Given the description of an element on the screen output the (x, y) to click on. 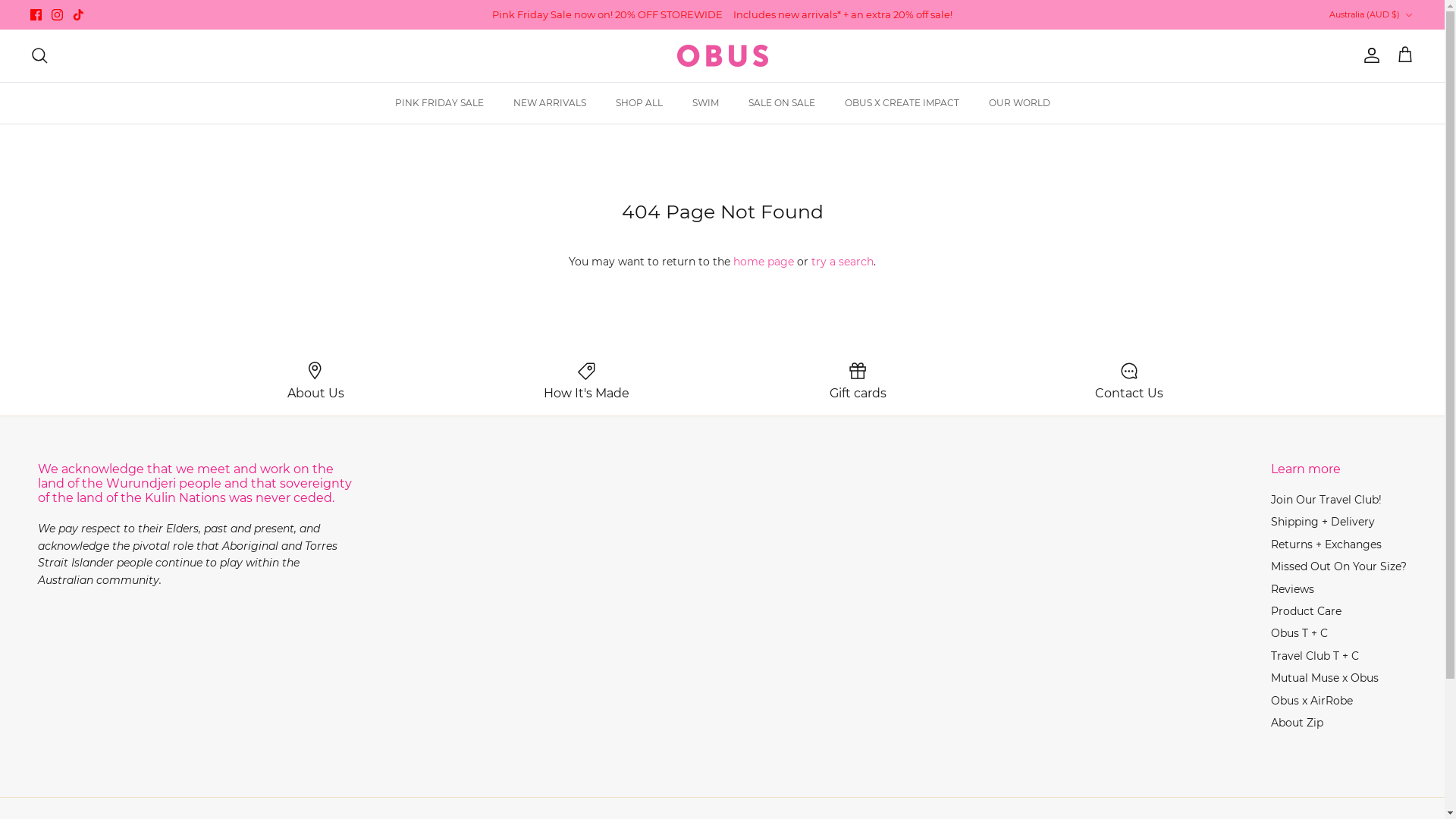
NEW ARRIVALS Element type: text (548, 102)
Obus x AirRobe Element type: text (1311, 700)
About Us Element type: text (315, 380)
Join Our Travel Club! Element type: text (1325, 499)
SWIM Element type: text (704, 102)
Mutual Muse x Obus Element type: text (1324, 677)
Australia (AUD $)
Down Element type: text (1371, 14)
Account Element type: text (1368, 55)
Returns + Exchanges Element type: text (1325, 544)
Travel Club T + C Element type: text (1314, 655)
OUR WORLD Element type: text (1019, 102)
home page Element type: text (763, 261)
Search Element type: text (39, 55)
Reviews Element type: text (1292, 589)
Contact Us Element type: text (1128, 380)
Obus Online Element type: hover (721, 55)
How It's Made Element type: text (586, 380)
Cart Element type: text (1405, 55)
SHOP ALL Element type: text (639, 102)
Obus T + C Element type: text (1298, 633)
Missed Out On Your Size? Element type: text (1338, 566)
Gift cards Element type: text (858, 380)
Shipping + Delivery Element type: text (1322, 521)
SALE ON SALE Element type: text (781, 102)
PINK FRIDAY SALE Element type: text (438, 102)
Facebook Element type: text (35, 14)
Product Care Element type: text (1305, 611)
OBUS X CREATE IMPACT Element type: text (901, 102)
About Zip Element type: text (1296, 722)
Instagram Element type: text (56, 14)
try a search Element type: text (842, 261)
